Given the description of an element on the screen output the (x, y) to click on. 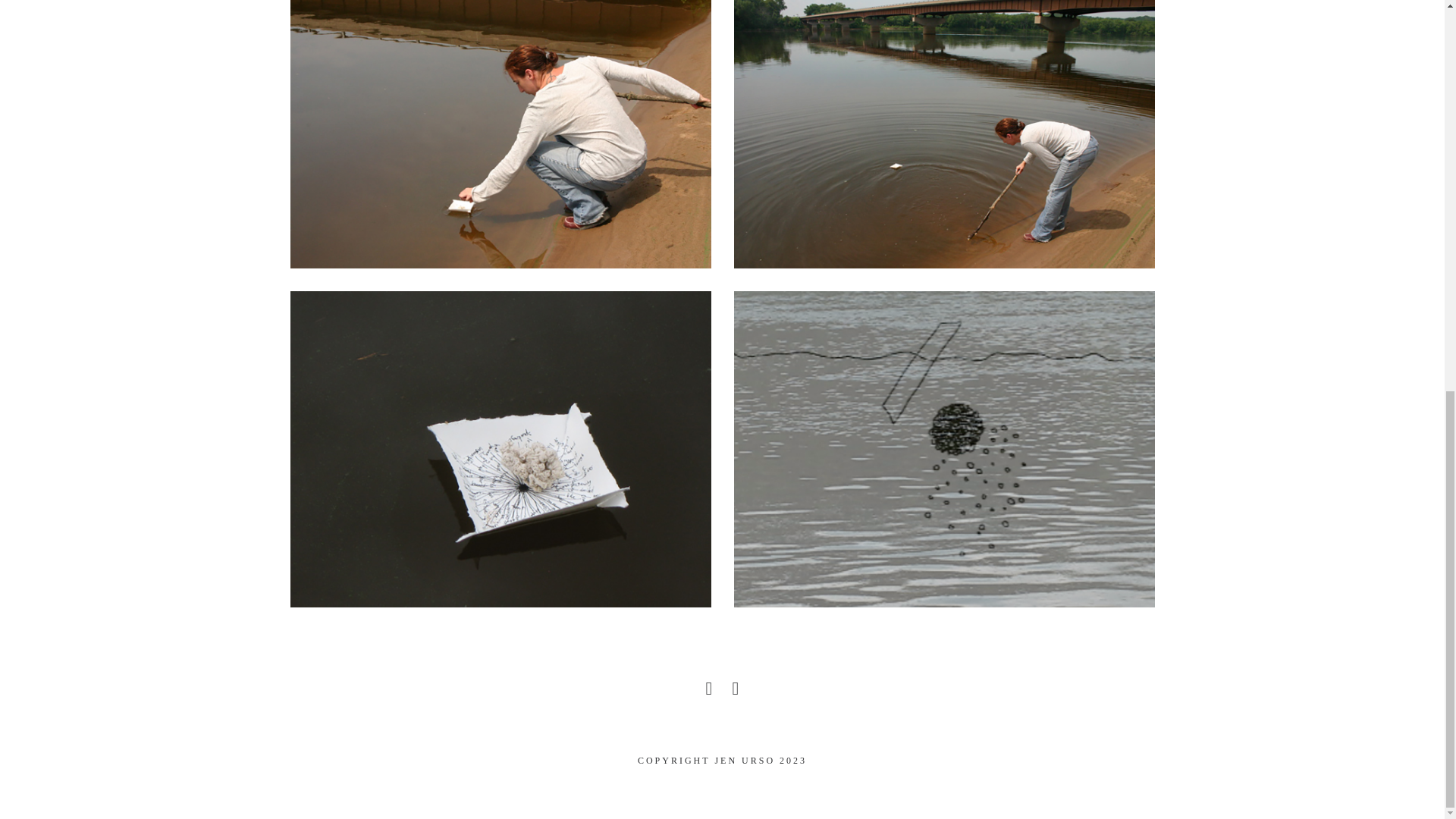
Telling Disaster paper raft detail (499, 449)
Telling Disaster public detail (943, 134)
Telling Disaster - Disaster Drift video still (943, 449)
Telling Disaster public detail (499, 134)
